Given the description of an element on the screen output the (x, y) to click on. 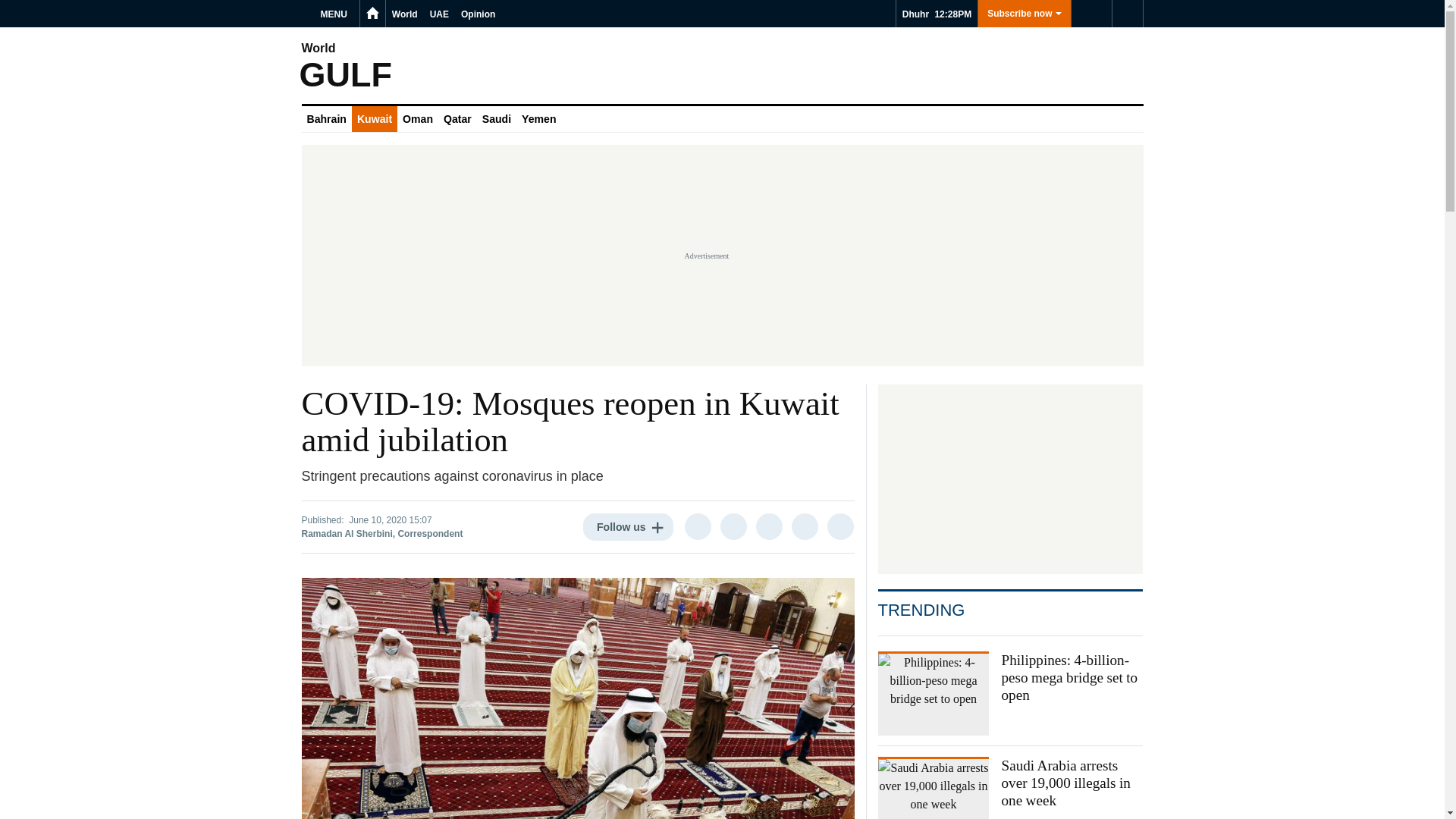
Opinion (477, 13)
Subscribe now (1024, 13)
MENU (336, 13)
World (404, 13)
Dhuhr 12:28PM (936, 13)
UAE (438, 13)
